Given the description of an element on the screen output the (x, y) to click on. 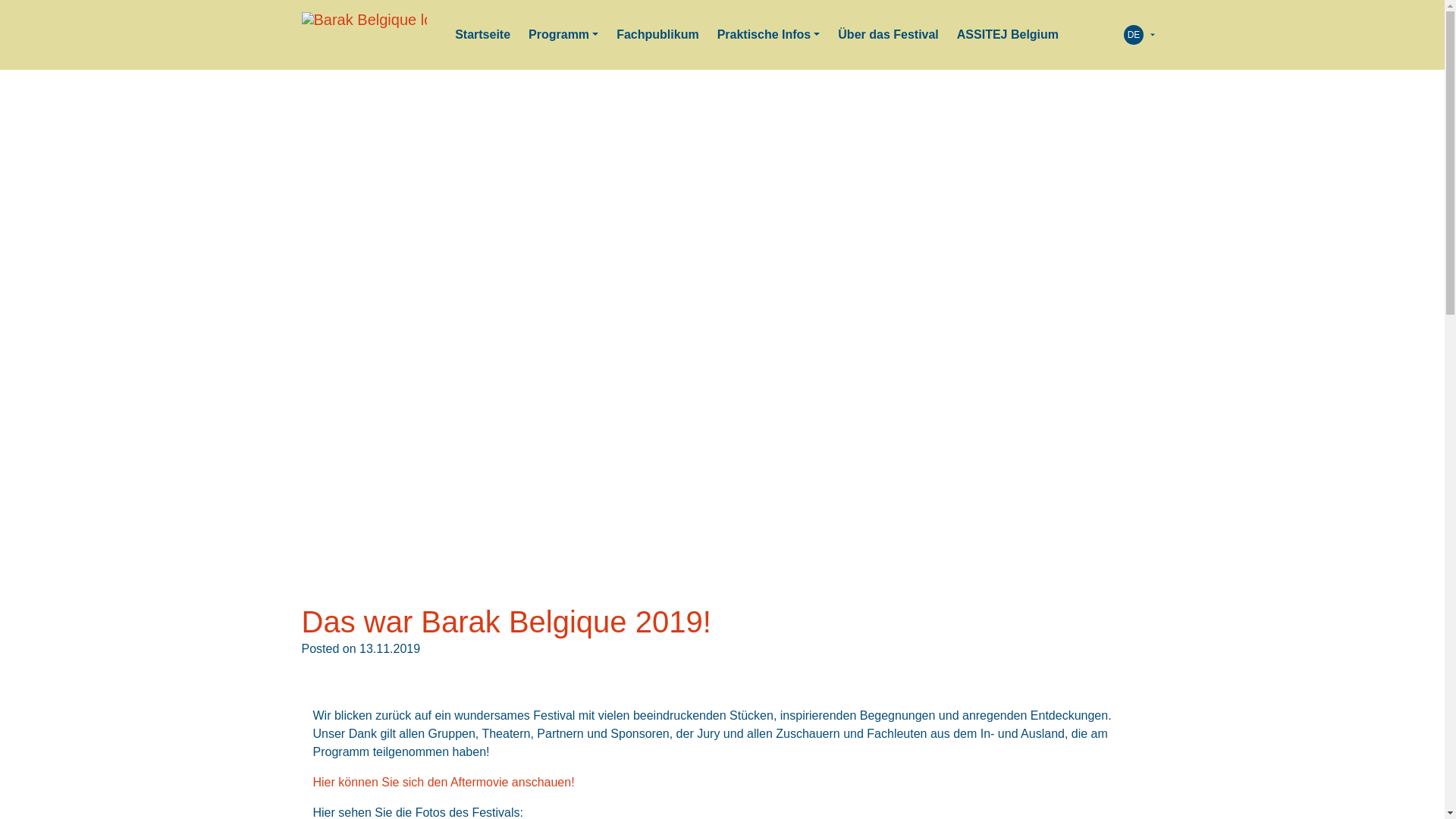
Programm Element type: text (563, 34)
Praktische Infos Element type: text (768, 34)
ASSITEJ Belgium Element type: text (1007, 34)
Skip to content Element type: text (0, 0)
Startseite Element type: text (482, 34)
Fachpublikum Element type: text (657, 34)
DE Element type: text (1133, 34)
